Given the description of an element on the screen output the (x, y) to click on. 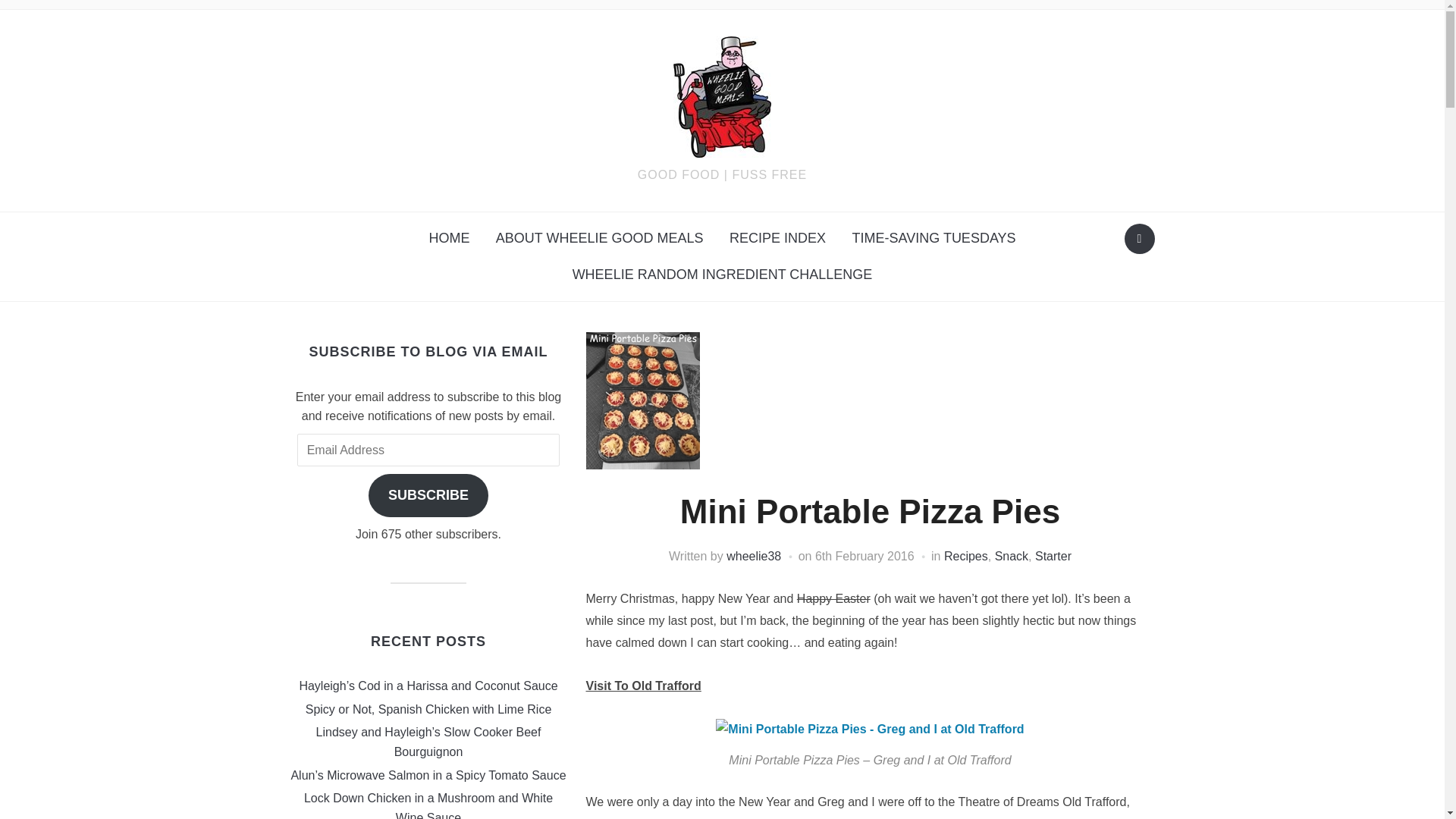
RECIPE INDEX (777, 238)
WHEELIE RANDOM INGREDIENT CHALLENGE (721, 274)
HOME (448, 238)
TIME-SAVING TUESDAYS (934, 238)
ABOUT WHEELIE GOOD MEALS (599, 238)
Search (1139, 238)
wheelie38 (753, 555)
Snack (1010, 555)
Starter (1053, 555)
Posts by wheelie38 (753, 555)
